Given the description of an element on the screen output the (x, y) to click on. 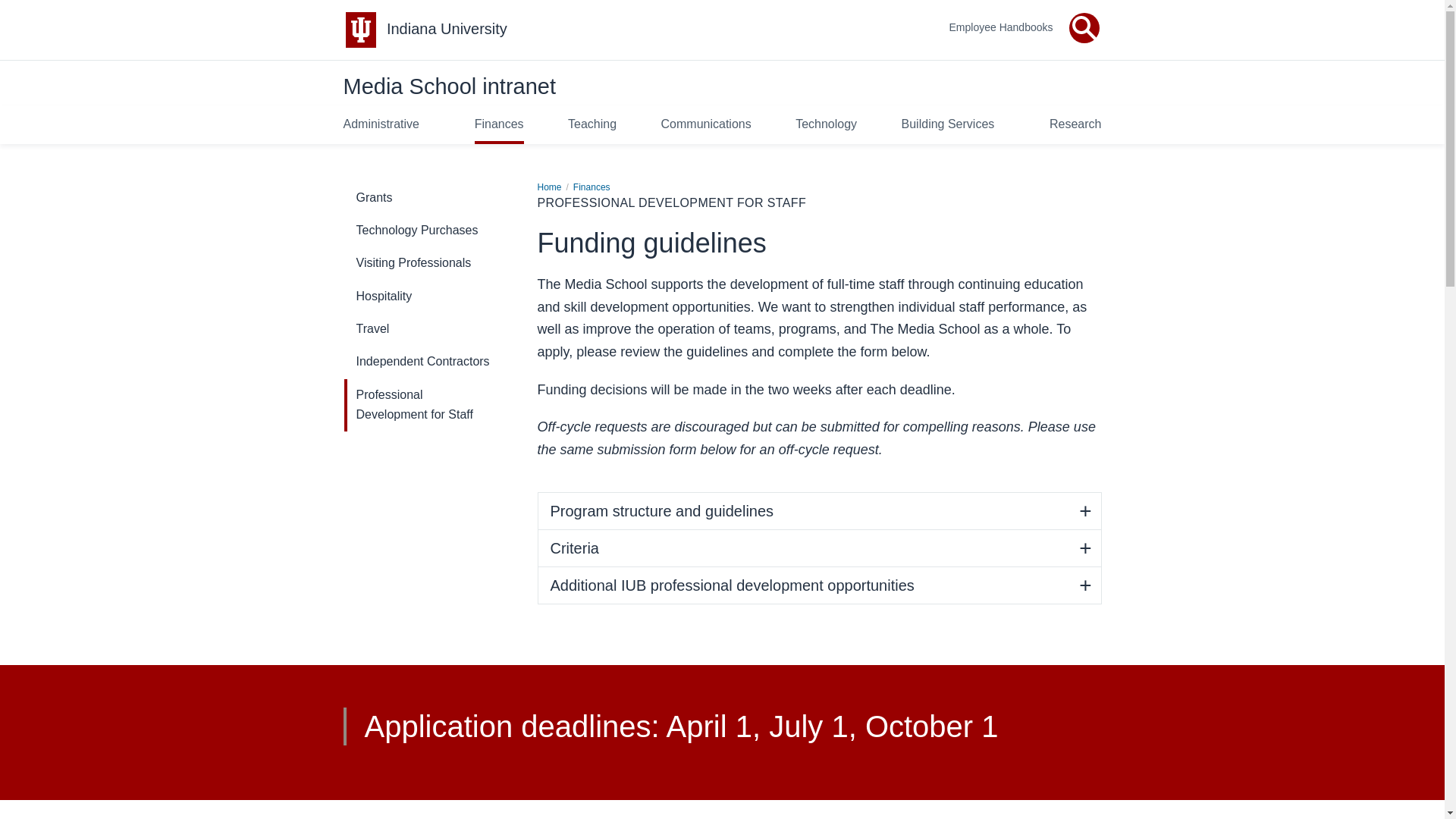
Indiana University (446, 28)
Indiana University (446, 28)
